Given the description of an element on the screen output the (x, y) to click on. 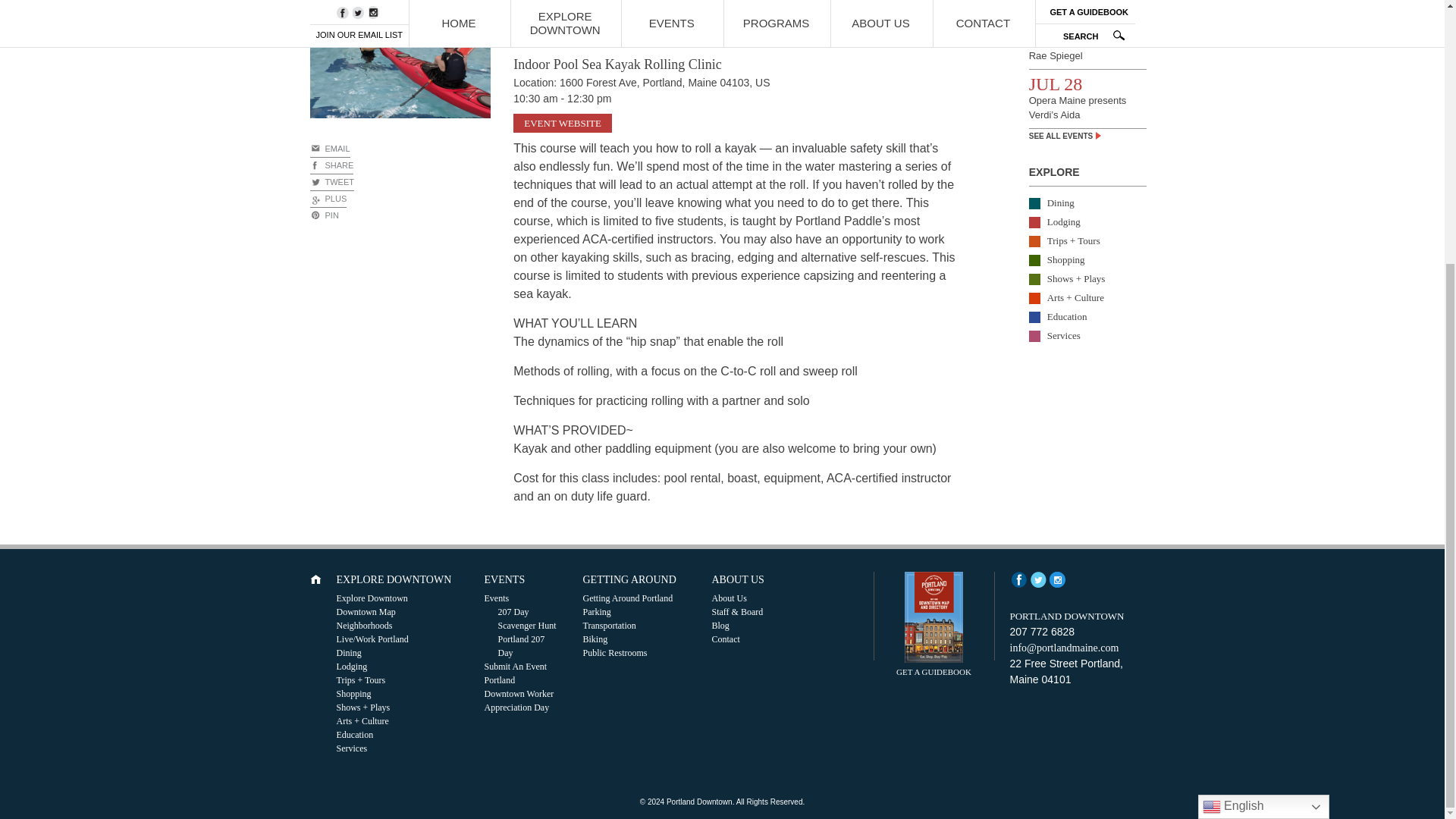
Plus (327, 199)
Email (322, 215)
Facebook (1019, 579)
Twitter (330, 182)
Event website (562, 123)
Email (328, 149)
twitter (1037, 579)
Facebook (330, 166)
